Given the description of an element on the screen output the (x, y) to click on. 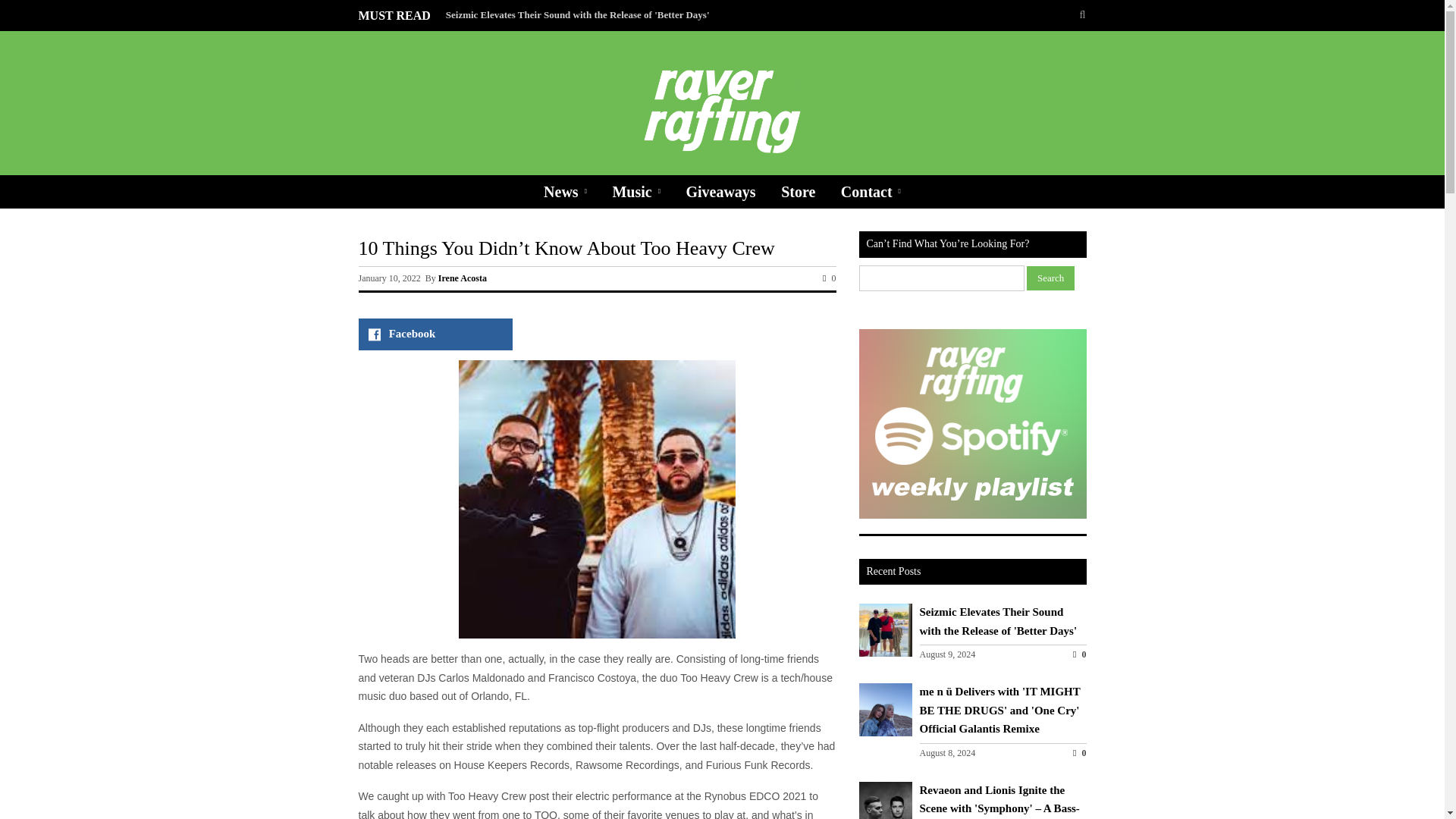
Search... (1031, 15)
News (565, 191)
Search (1050, 278)
